Given the description of an element on the screen output the (x, y) to click on. 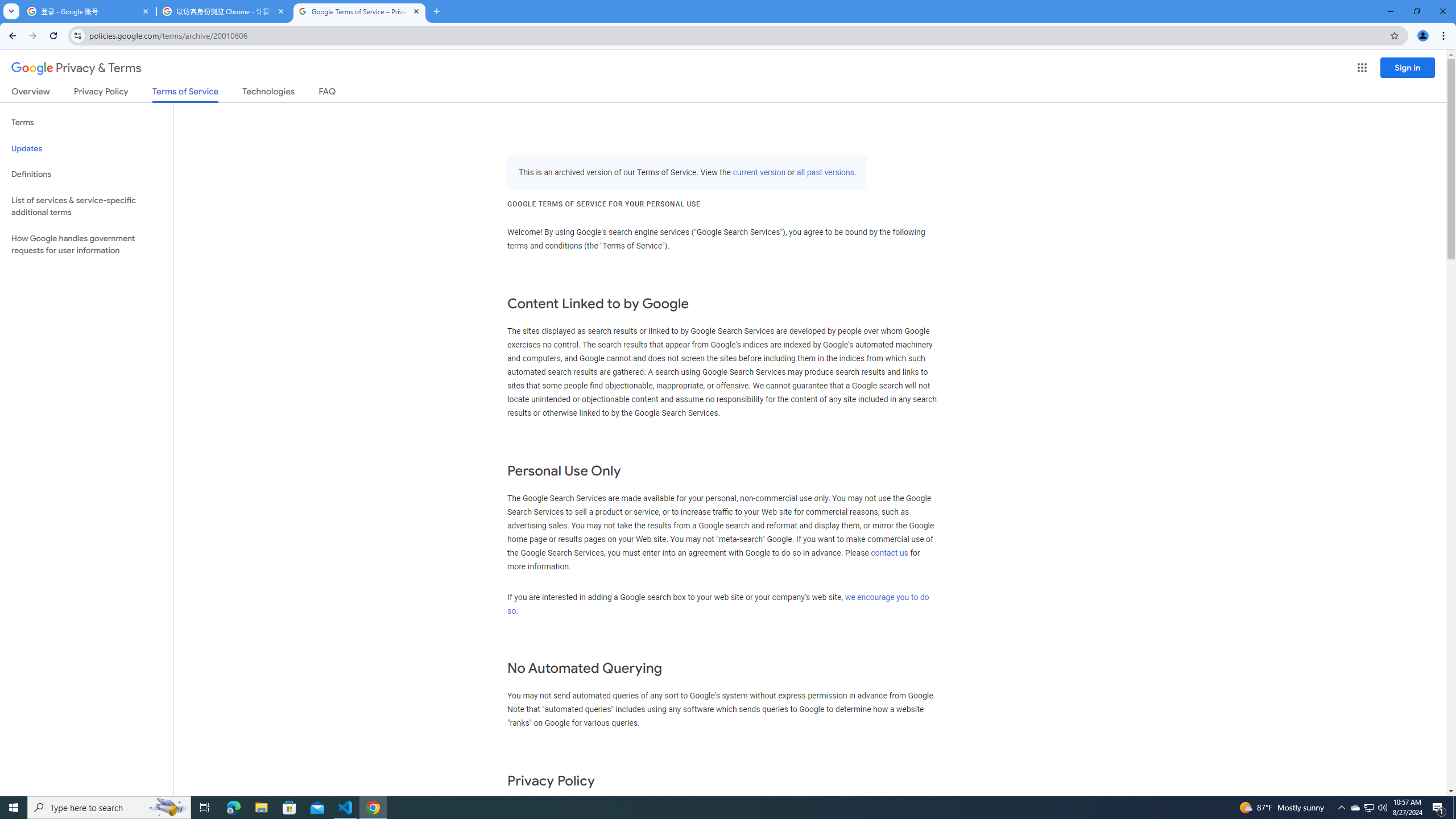
all past versions (825, 172)
we encourage you to do so (717, 603)
